Given the description of an element on the screen output the (x, y) to click on. 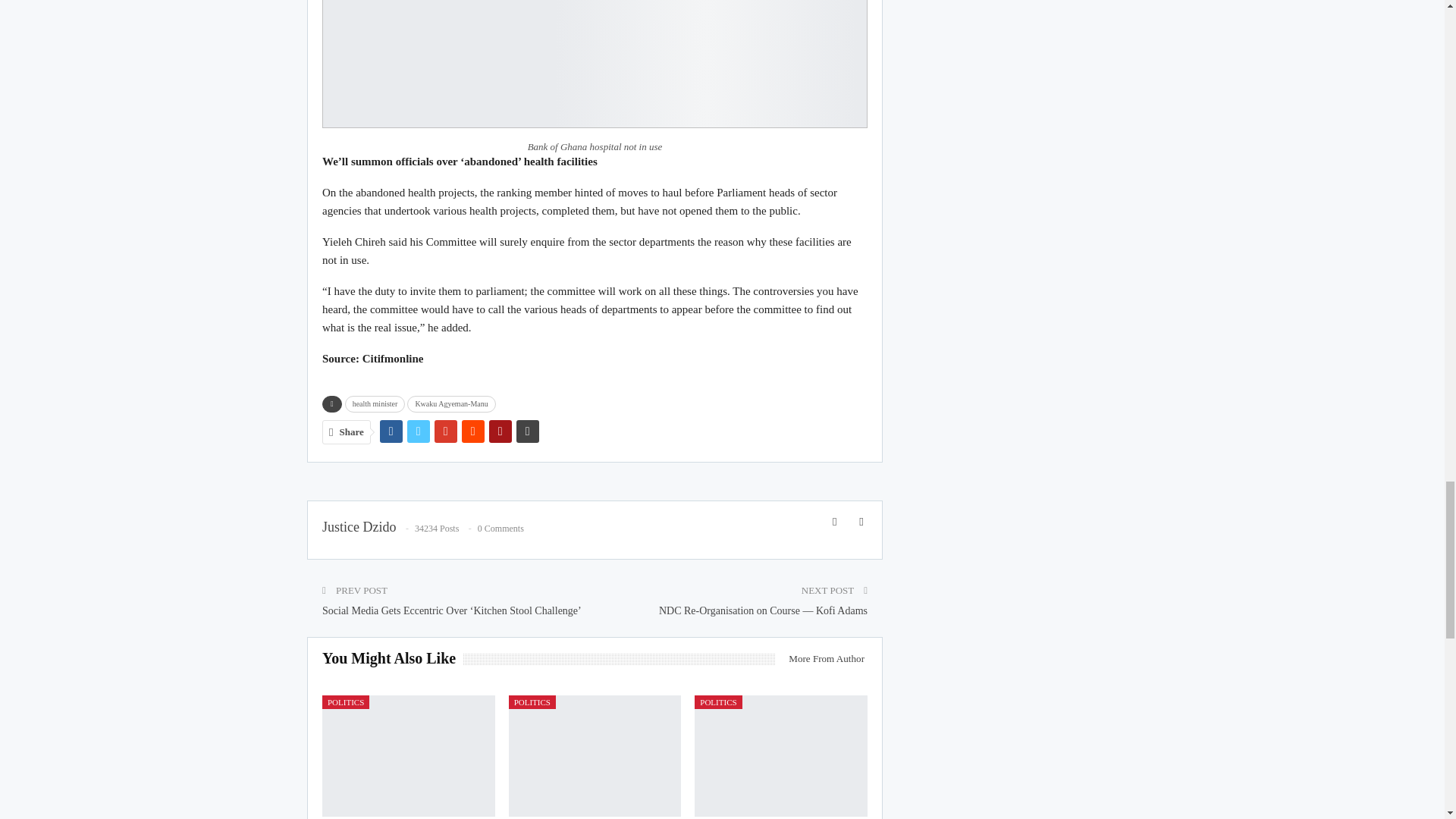
Okuapehene pulls support for Napo (408, 755)
health minister (375, 403)
Kwaku Agyeman-Manu (451, 403)
